Given the description of an element on the screen output the (x, y) to click on. 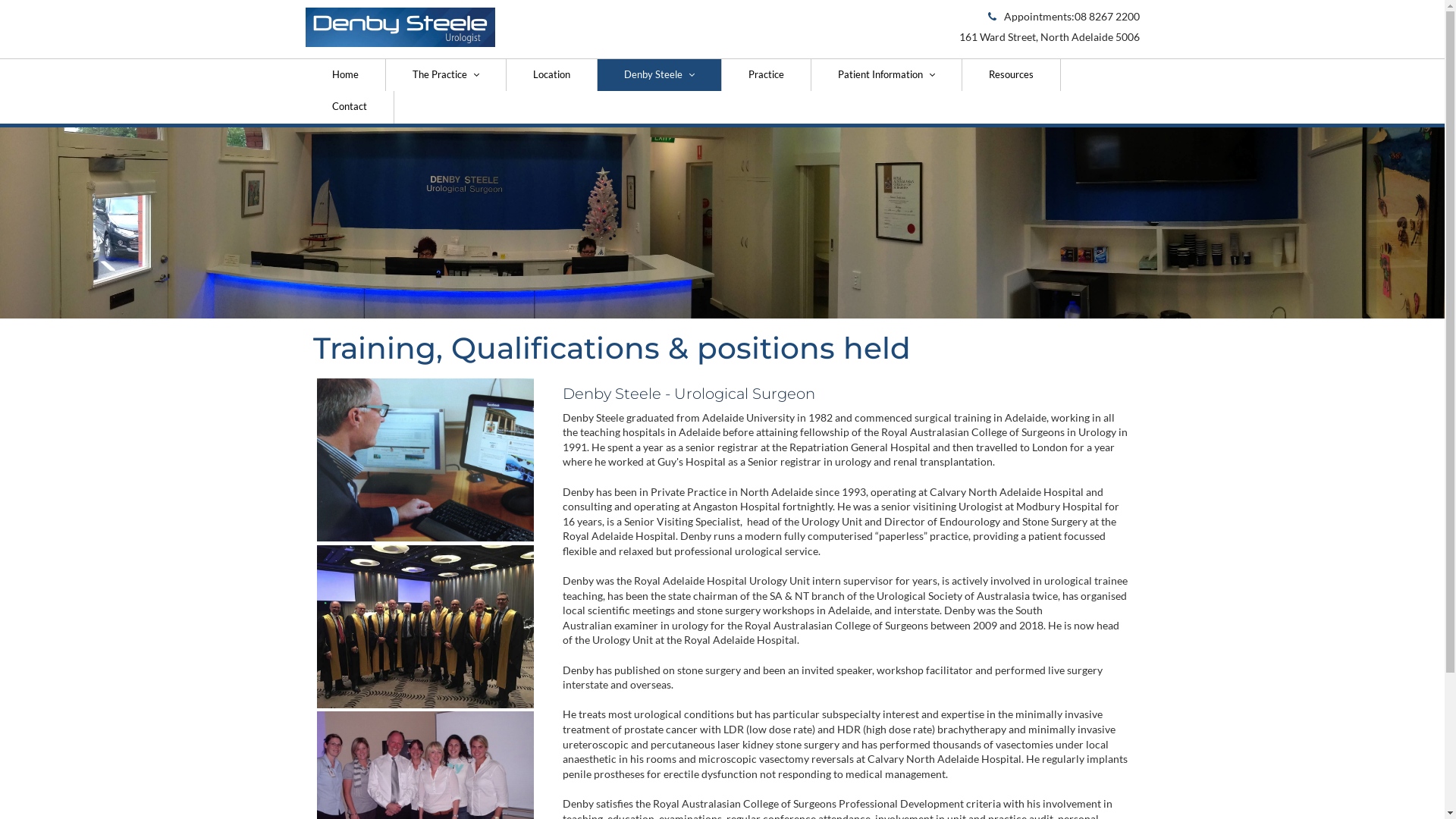
161 Ward Street, North Adelaide 5006 Element type: text (1048, 36)
Location Element type: text (551, 75)
The Practice Element type: text (445, 75)
Resources Element type: text (1010, 75)
Patient Information Element type: text (886, 75)
Home Element type: text (344, 75)
Contact Element type: text (348, 107)
Practice Element type: text (766, 75)
Appointments:08 8267 2200 Element type: text (1063, 16)
Denby Steele Element type: text (659, 75)
